Given the description of an element on the screen output the (x, y) to click on. 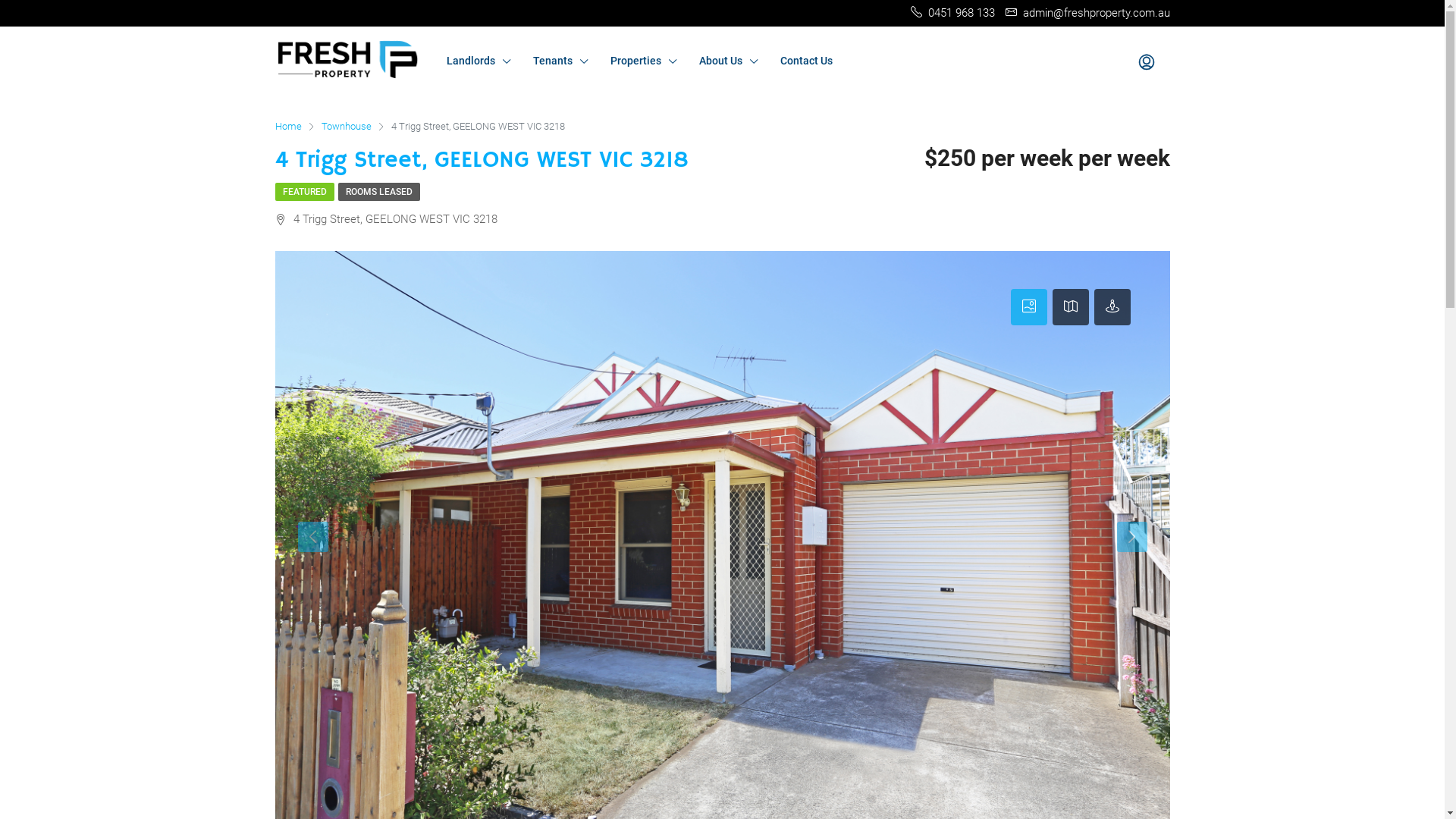
Landlords Element type: text (478, 60)
Tenants Element type: text (560, 60)
Contact Us Element type: text (806, 60)
Properties Element type: text (643, 60)
ROOMS LEASED Element type: text (379, 191)
0451 968 133 Element type: text (952, 12)
Townhouse Element type: text (346, 126)
admin@freshproperty.com.au Element type: text (1087, 12)
About Us Element type: text (727, 60)
Home Element type: text (287, 126)
